Given the description of an element on the screen output the (x, y) to click on. 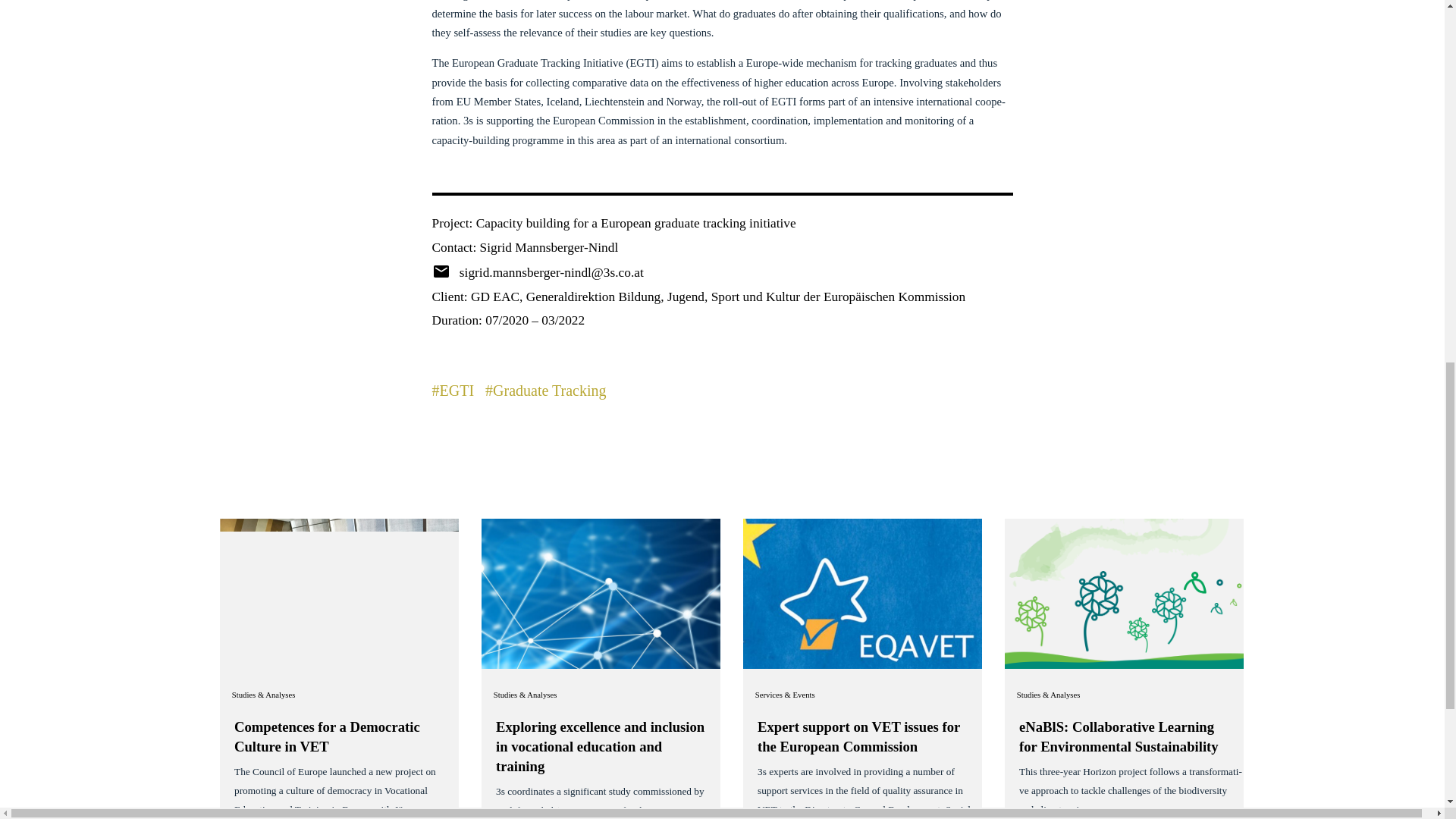
EGTI (456, 390)
Expert support on VET issues for the European Commission (858, 736)
Competences for a Democratic Culture in VET (327, 736)
Graduate Tracking (549, 390)
